Given the description of an element on the screen output the (x, y) to click on. 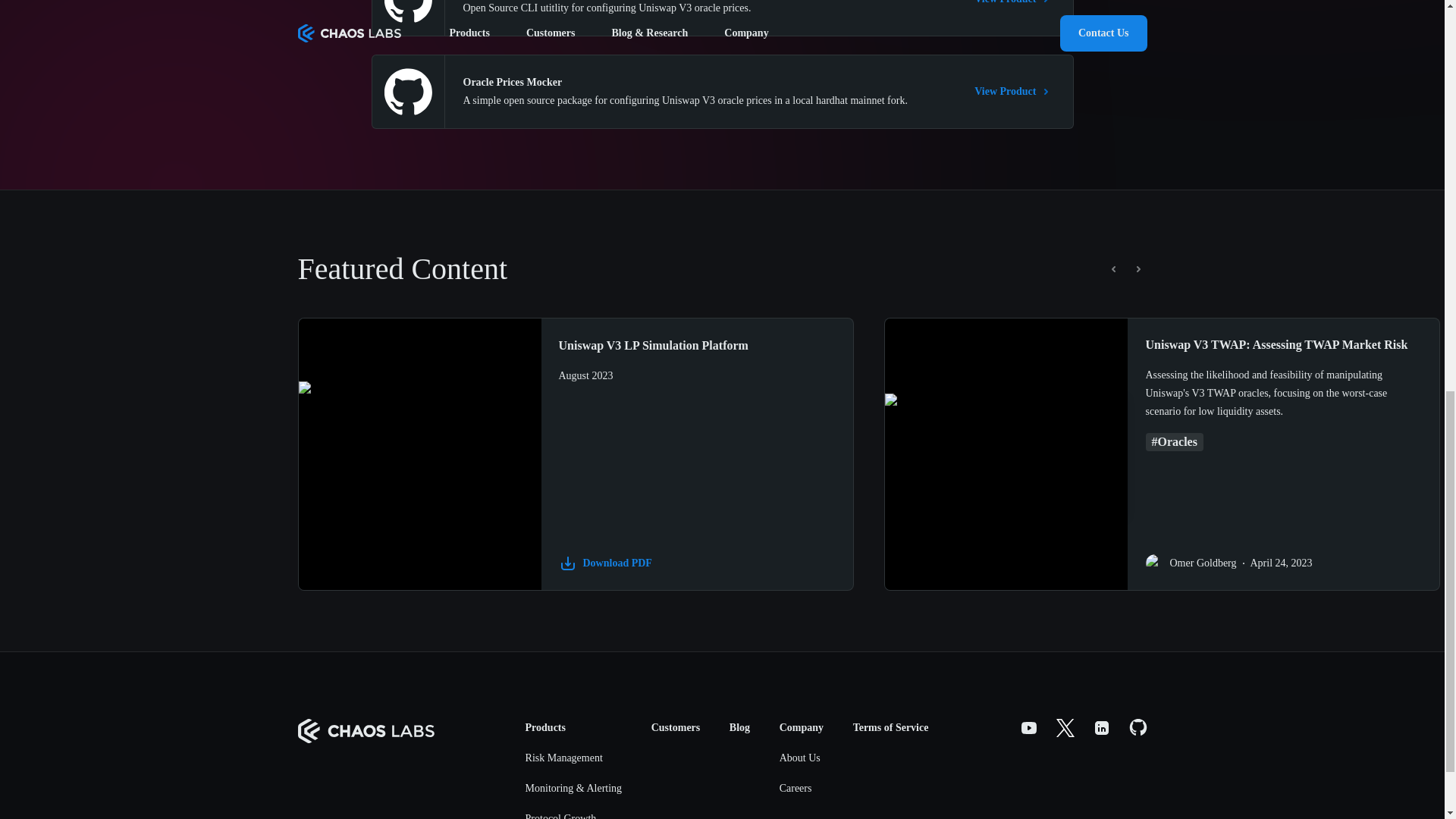
Protocol Growth (574, 811)
View Product (1014, 91)
View Product (1014, 4)
Uniswap V3 LP Simulation Platform (695, 345)
Download PDF (695, 563)
Risk Management (574, 757)
Uniswap V3 TWAP: Assessing TWAP Market Risk (1275, 344)
